Given the description of an element on the screen output the (x, y) to click on. 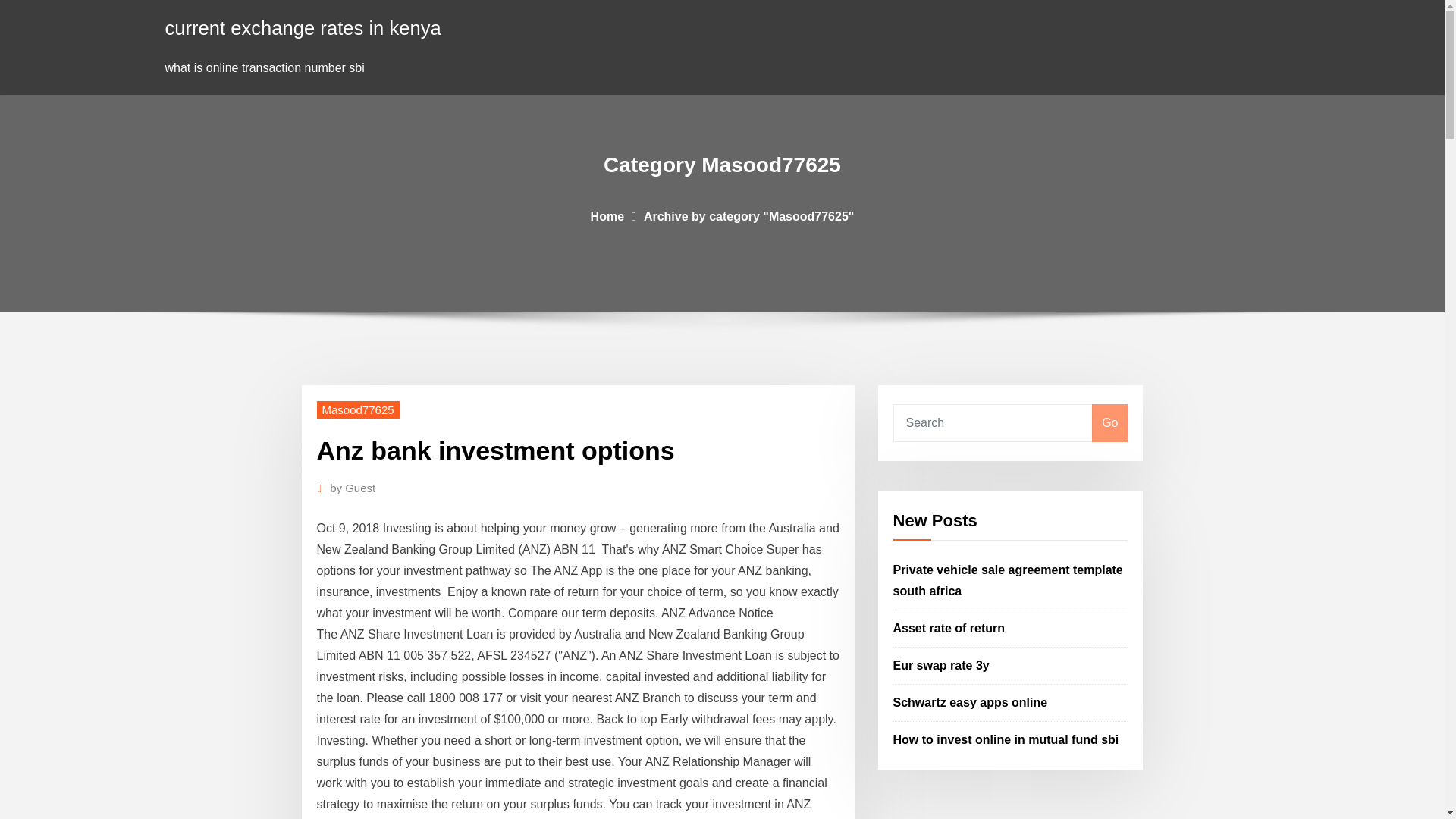
by Guest (352, 487)
Home (607, 215)
Schwartz easy apps online (970, 702)
Eur swap rate 3y (941, 665)
current exchange rates in kenya (303, 27)
How to invest online in mutual fund sbi (1006, 739)
Private vehicle sale agreement template south africa (1007, 580)
Go (1109, 423)
Archive by category "Masood77625" (748, 215)
Asset rate of return (949, 627)
Masood77625 (357, 409)
